Given the description of an element on the screen output the (x, y) to click on. 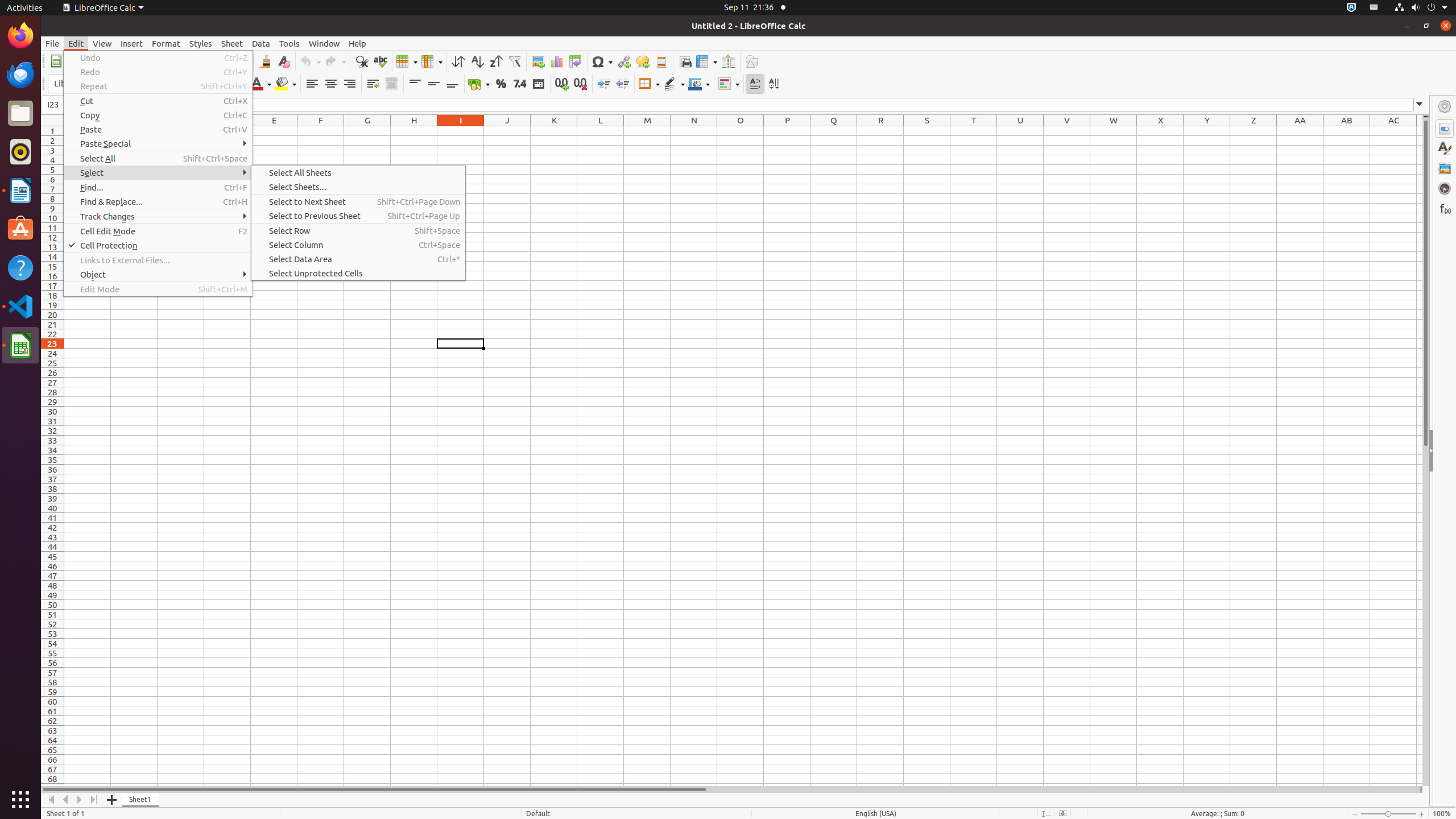
Move To End Element type: push-button (94, 799)
Links to External Files... Element type: menu-item (157, 260)
X1 Element type: table-cell (1159, 130)
Redo Element type: menu-item (157, 71)
Cut Element type: menu-item (157, 100)
